Given the description of an element on the screen output the (x, y) to click on. 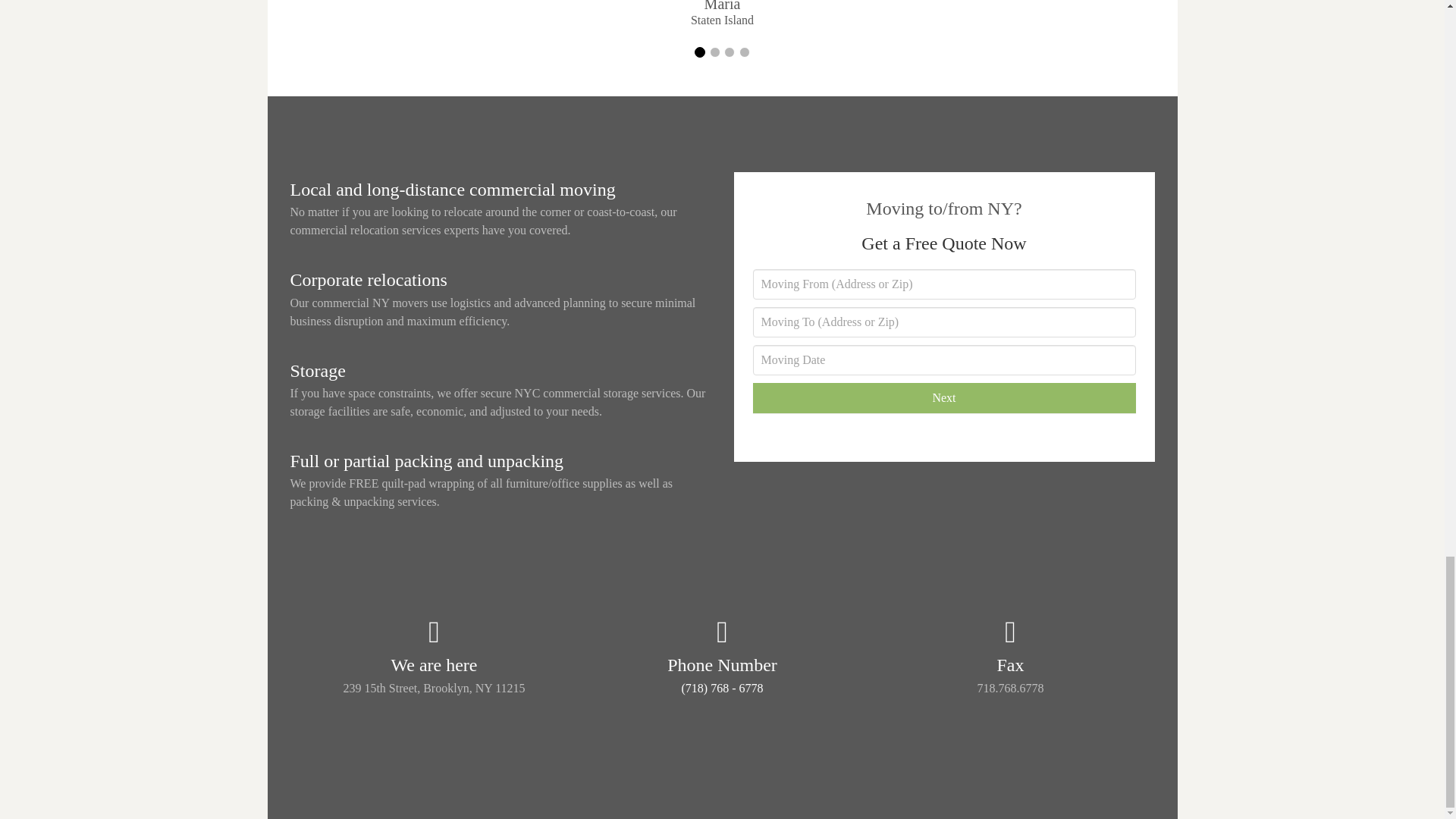
Next (943, 398)
Next (943, 398)
